Given the description of an element on the screen output the (x, y) to click on. 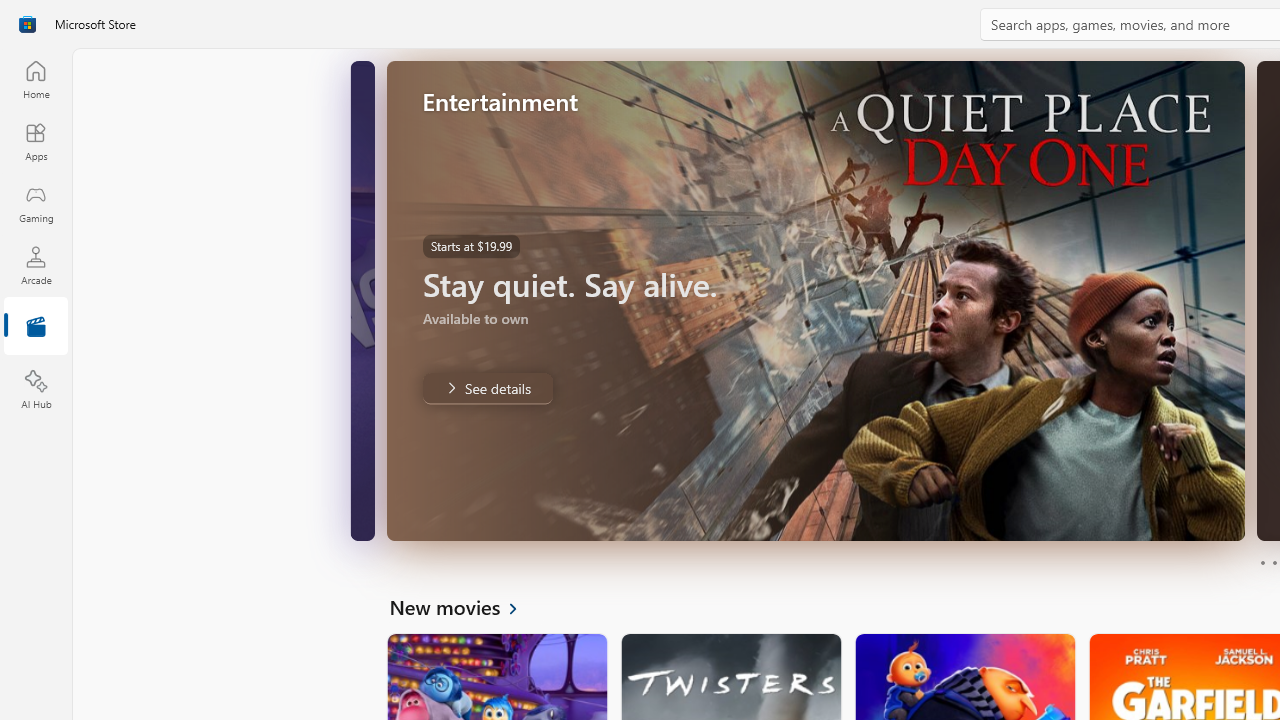
See all  New movies (464, 606)
Page 1 (1261, 562)
Home (35, 79)
Gaming (35, 203)
AI Hub (35, 390)
AutomationID: Image (815, 300)
Apps (35, 141)
Page 2 (1274, 562)
Unmute (355, 512)
Class: Image (27, 24)
Arcade (35, 265)
Entertainment (35, 327)
